Given the description of an element on the screen output the (x, y) to click on. 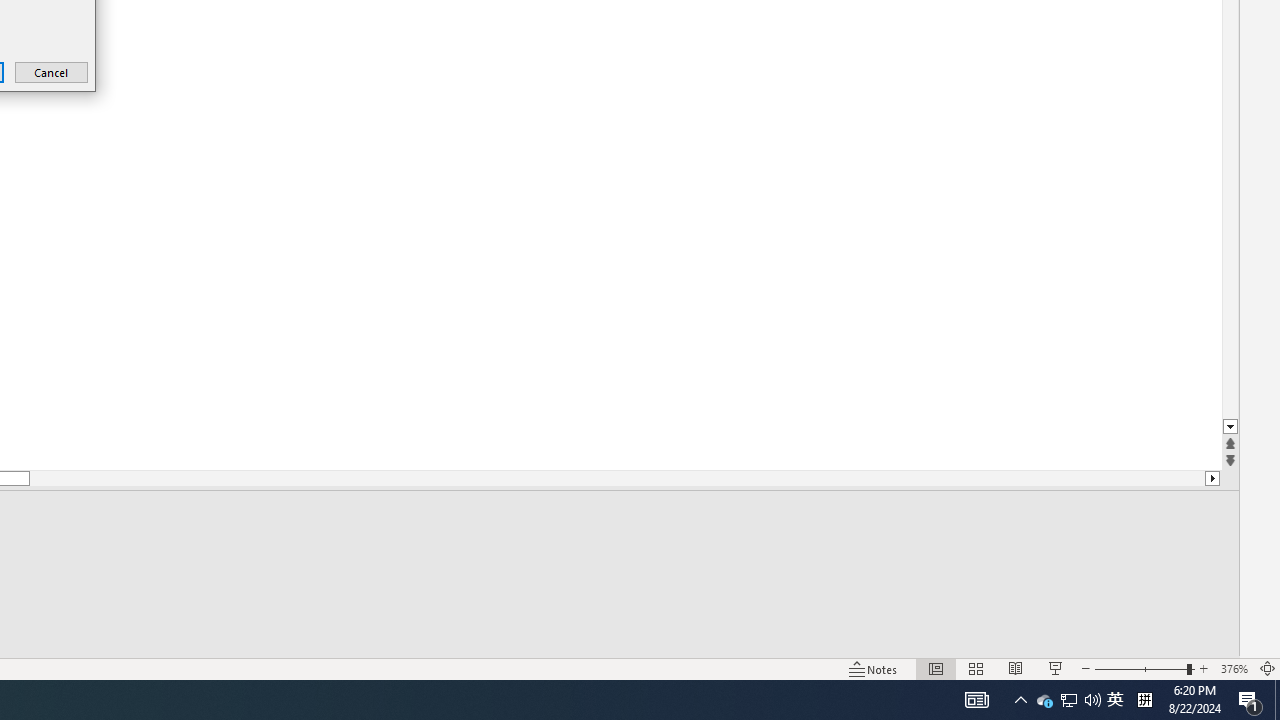
Zoom 376% (1234, 668)
